Given the description of an element on the screen output the (x, y) to click on. 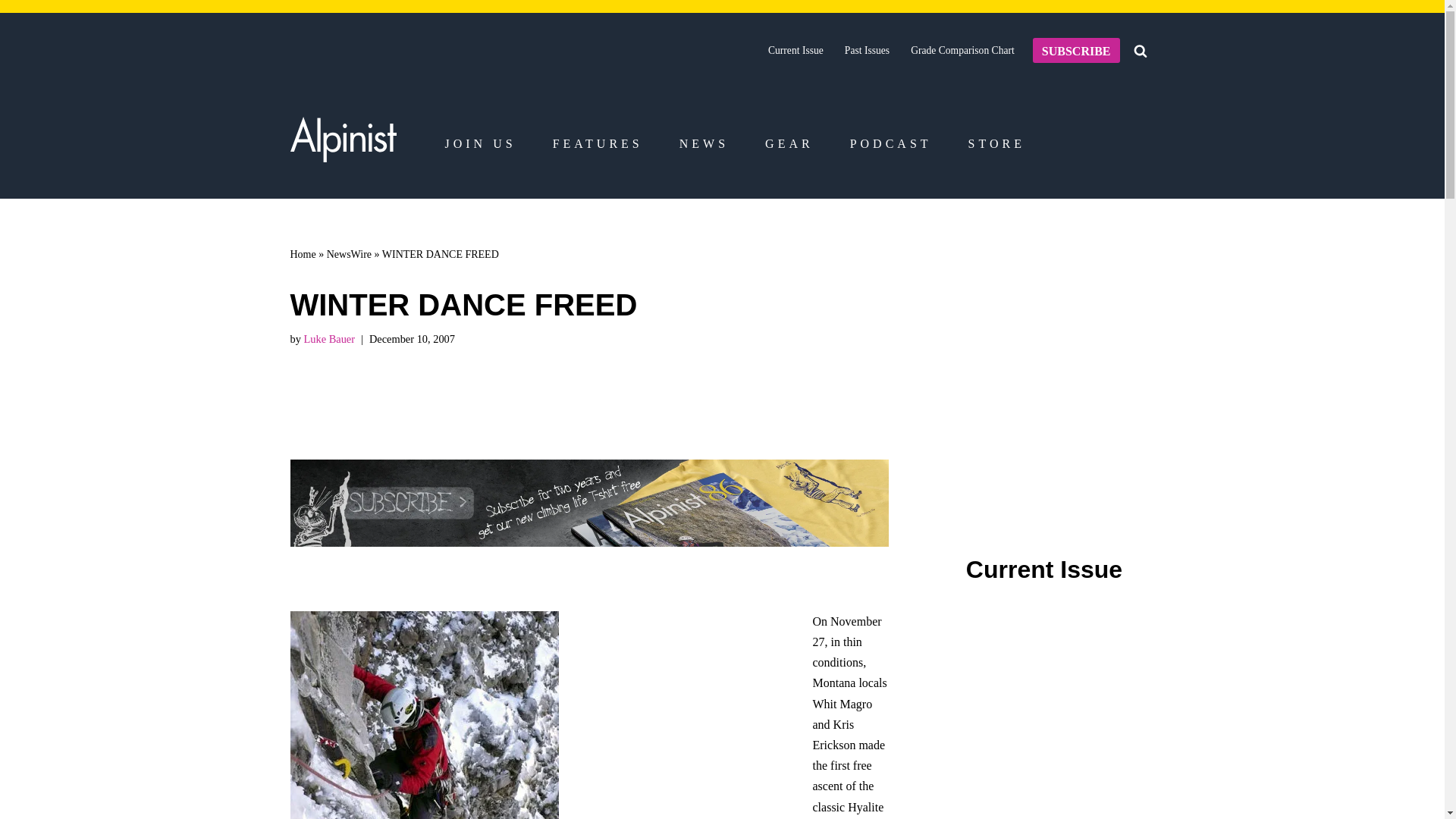
NewsWire (348, 254)
Posts by Luke Bauer (328, 338)
Skip to content (11, 31)
Past Issues (866, 49)
SUBSCRIBE (1075, 50)
3rd party ad content (683, 705)
STORE (996, 143)
winter-dance-1 (423, 714)
Luke Bauer (328, 338)
Current Issue (796, 49)
Home (302, 254)
GEAR (789, 143)
FEATURES (598, 143)
PODCAST (890, 143)
3rd party ad content (1044, 762)
